Given the description of an element on the screen output the (x, y) to click on. 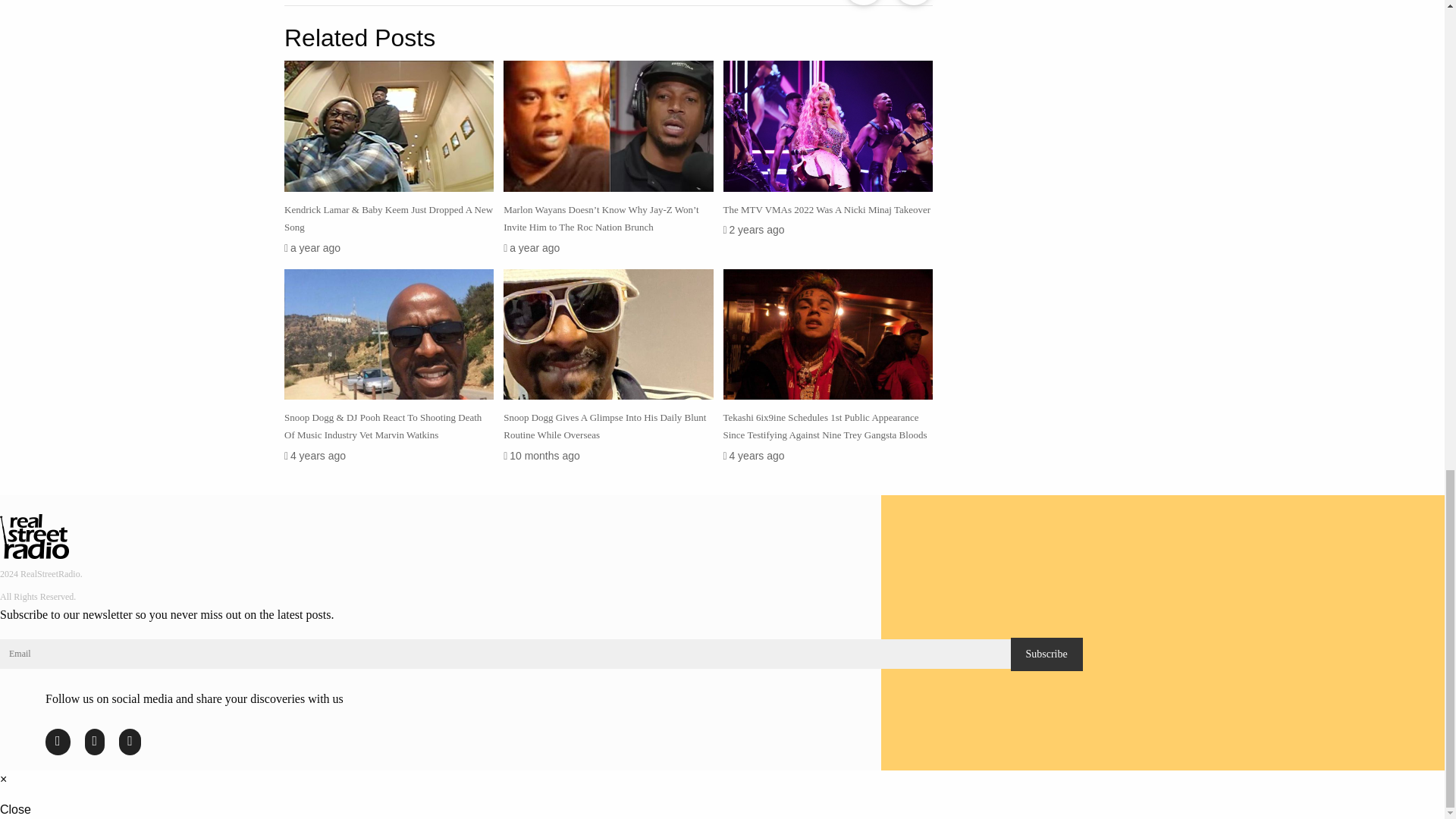
The MTV VMAs 2022 Was A Nicki Minaj Takeover (827, 209)
Subscribe (1045, 654)
